Given the description of an element on the screen output the (x, y) to click on. 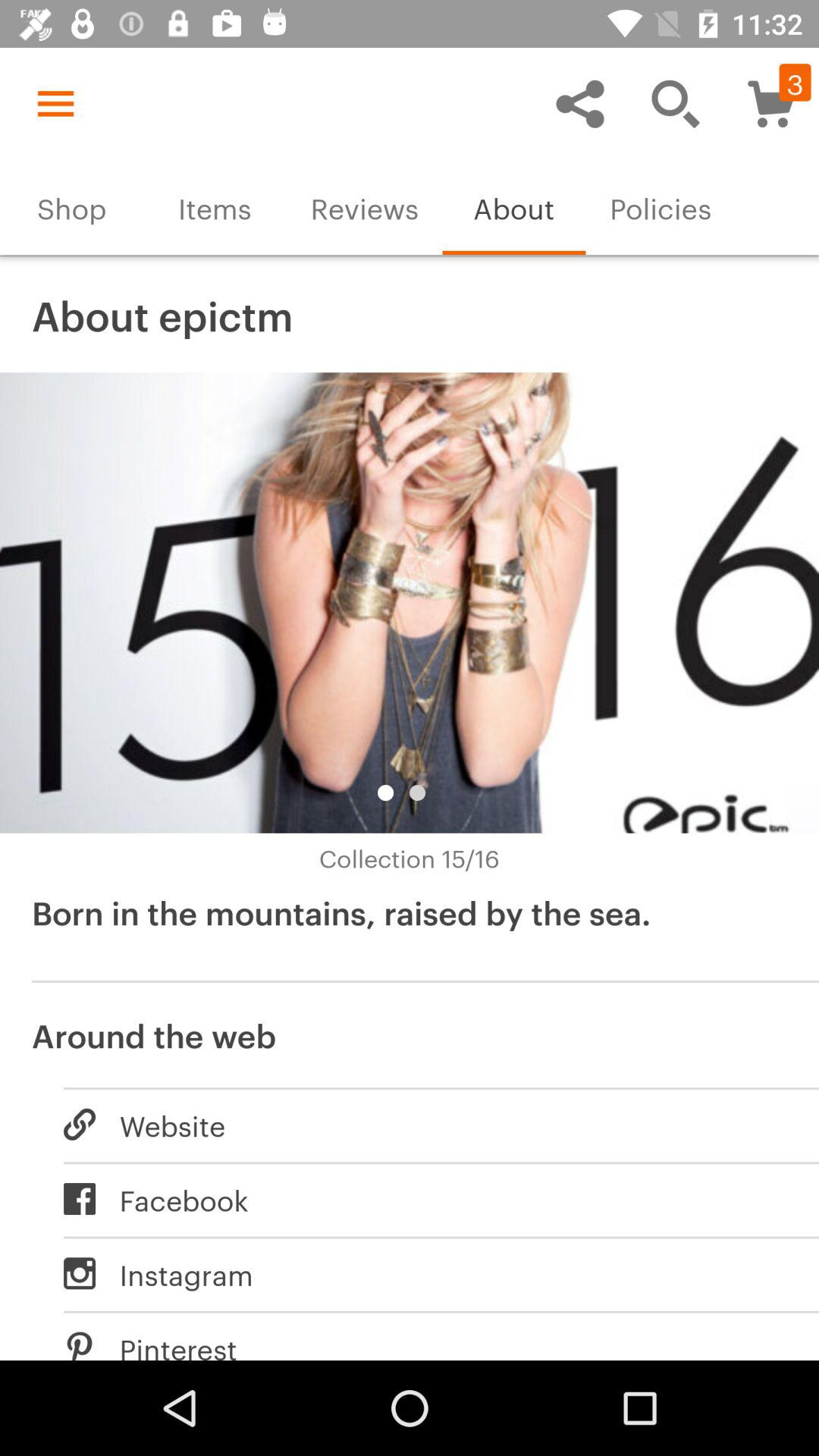
select the icon above instagram (425, 1198)
